Given the description of an element on the screen output the (x, y) to click on. 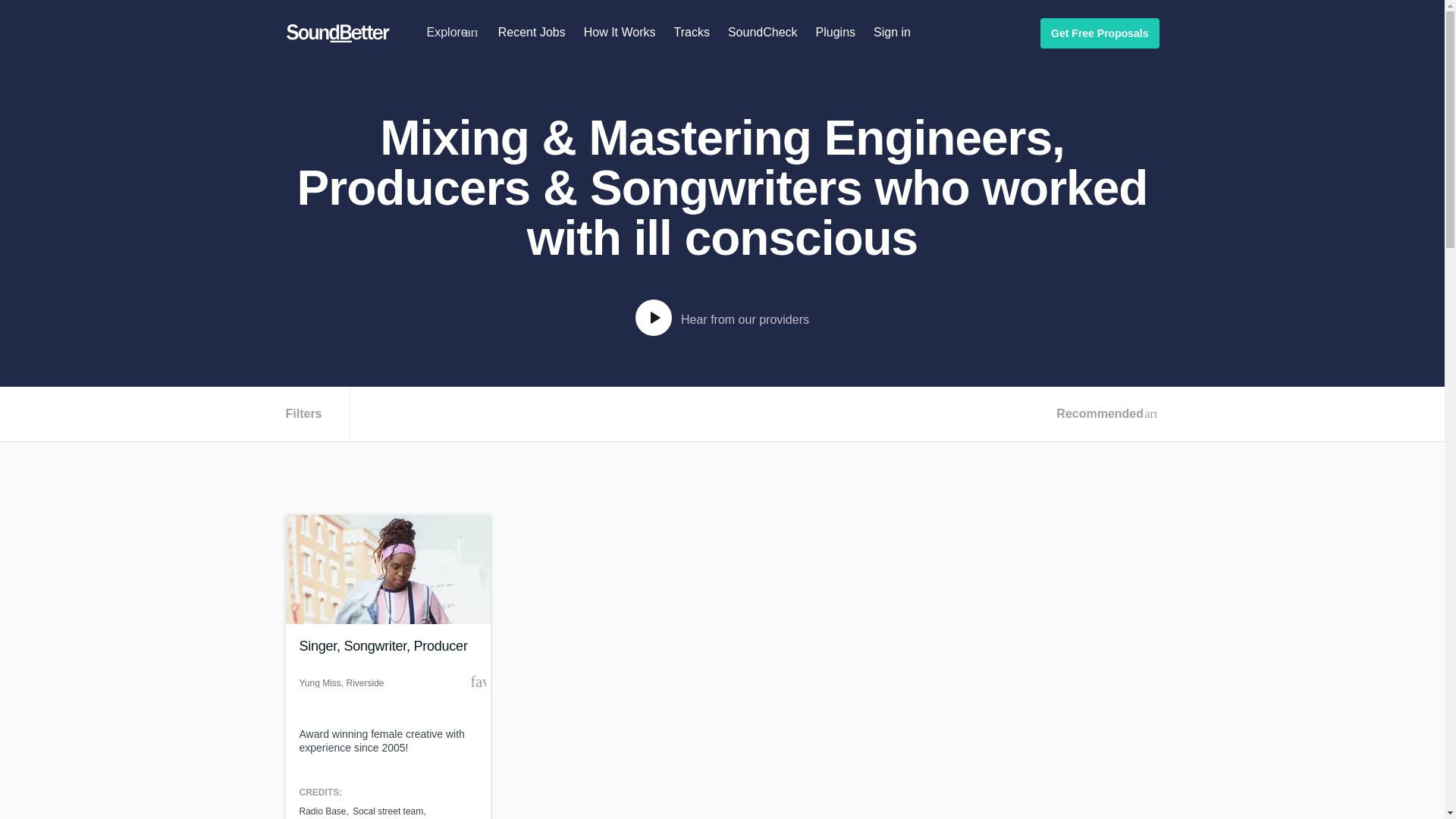
SoundBetter (337, 33)
